Given the description of an element on the screen output the (x, y) to click on. 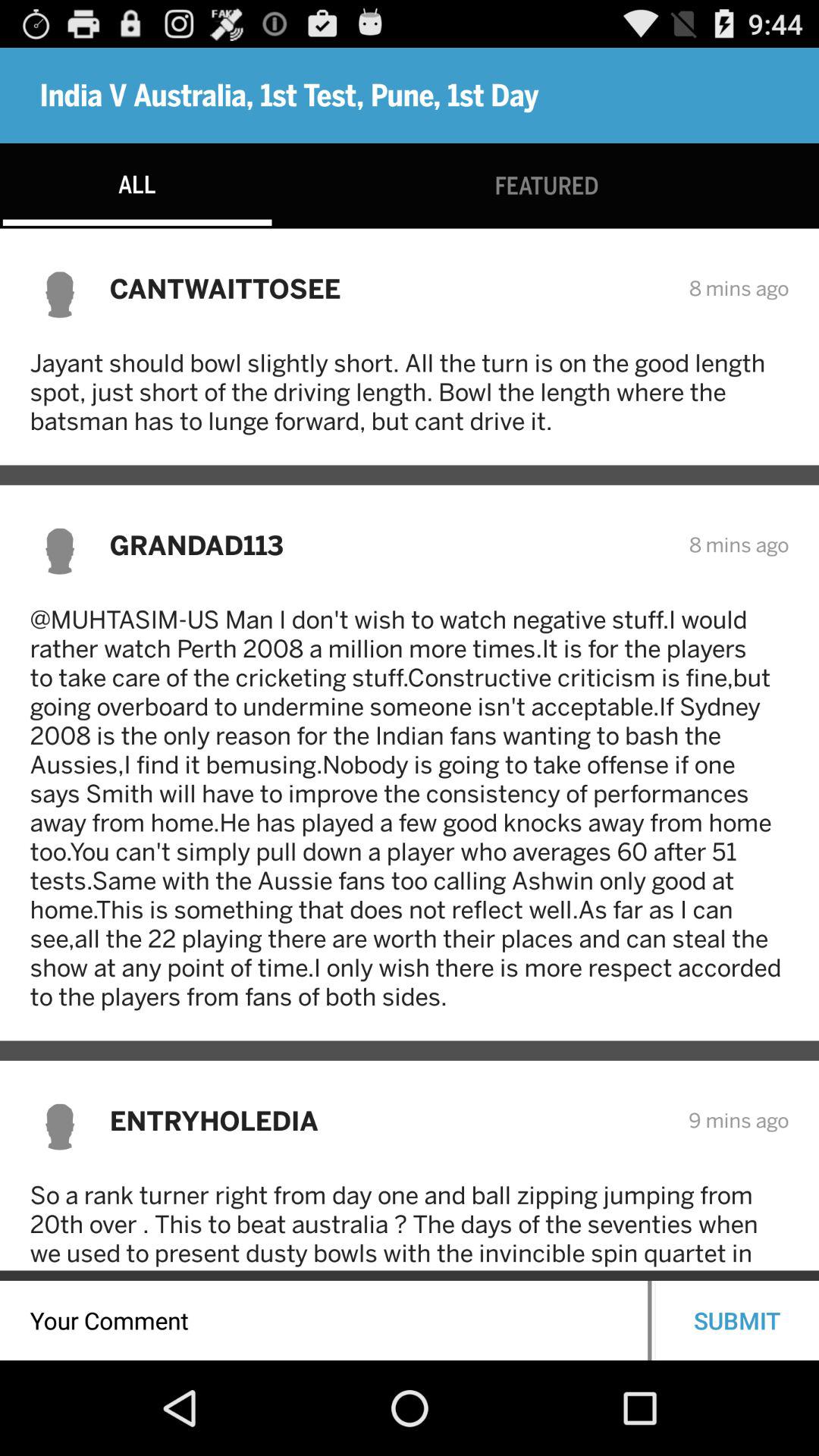
swipe to the muhtasim us man item (409, 807)
